Given the description of an element on the screen output the (x, y) to click on. 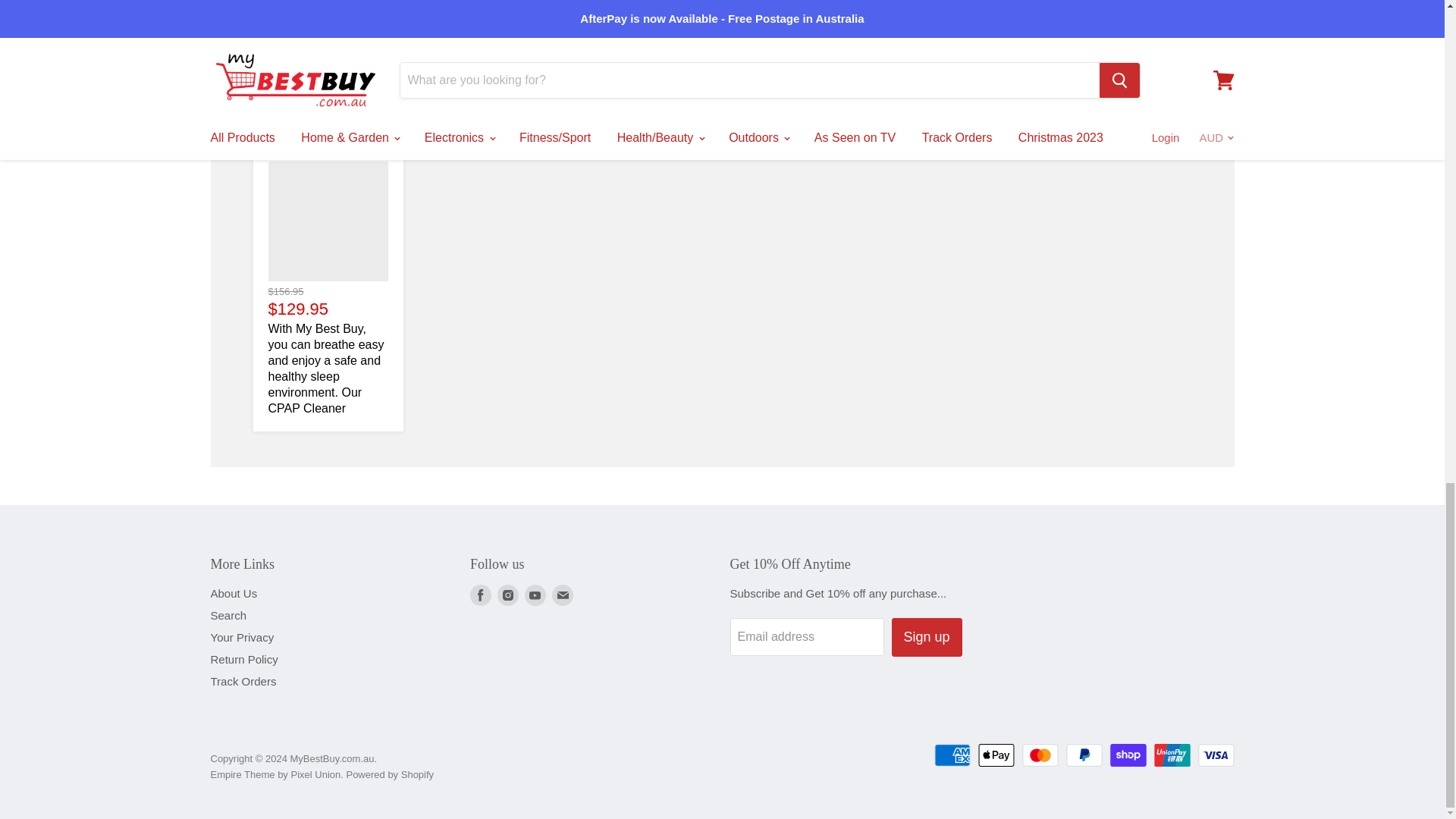
Youtube (534, 595)
E-mail (562, 595)
Instagram (508, 595)
Facebook (481, 595)
American Express (952, 754)
